Given the description of an element on the screen output the (x, y) to click on. 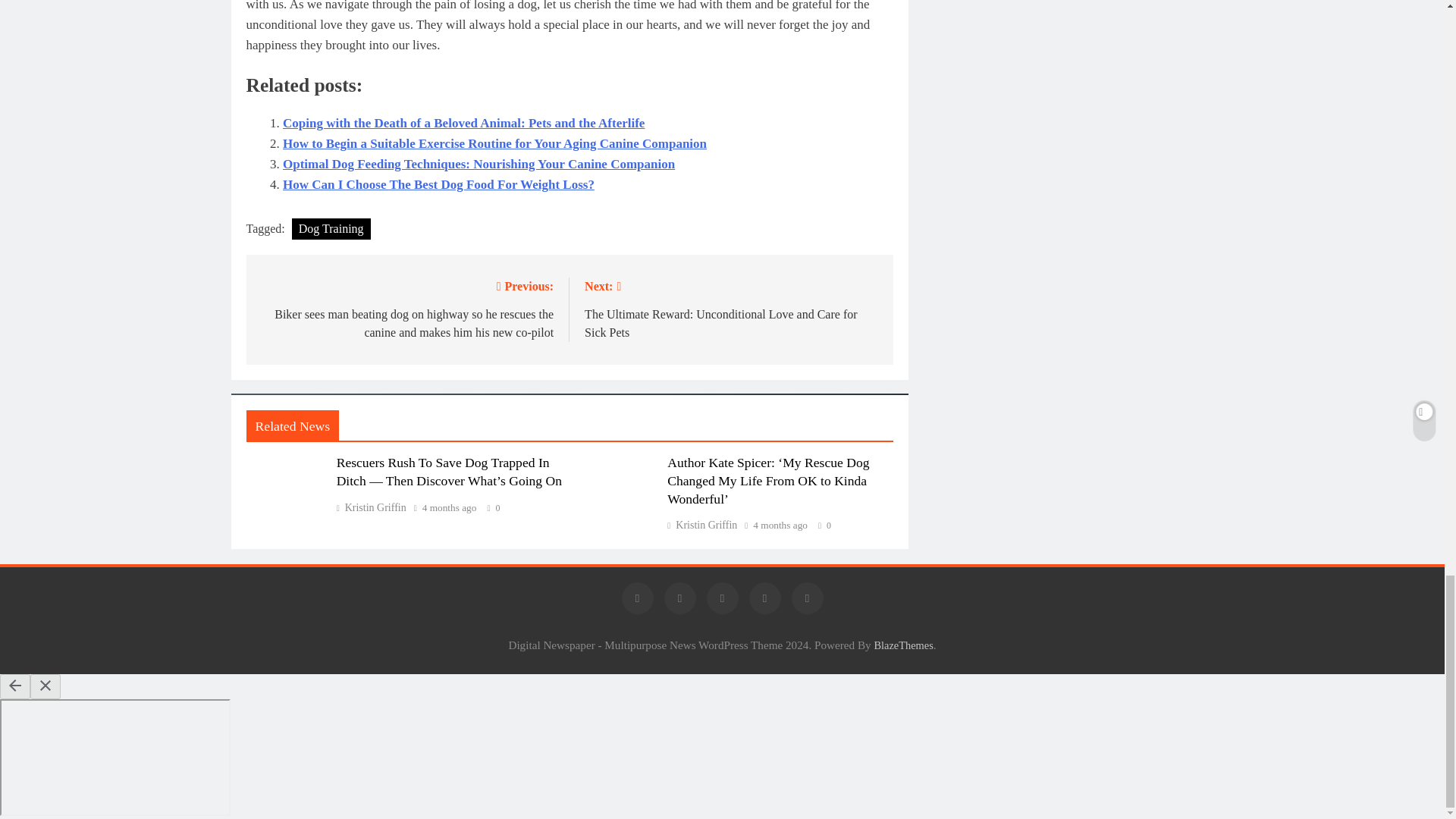
4 months ago (780, 525)
How Can I Choose The Best Dog Food For Weight Loss? (438, 184)
Dog Training (331, 228)
Kristin Griffin (701, 524)
Kristin Griffin (371, 507)
4 months ago (449, 507)
How Can I Choose The Best Dog Food For Weight Loss? (438, 184)
